Given the description of an element on the screen output the (x, y) to click on. 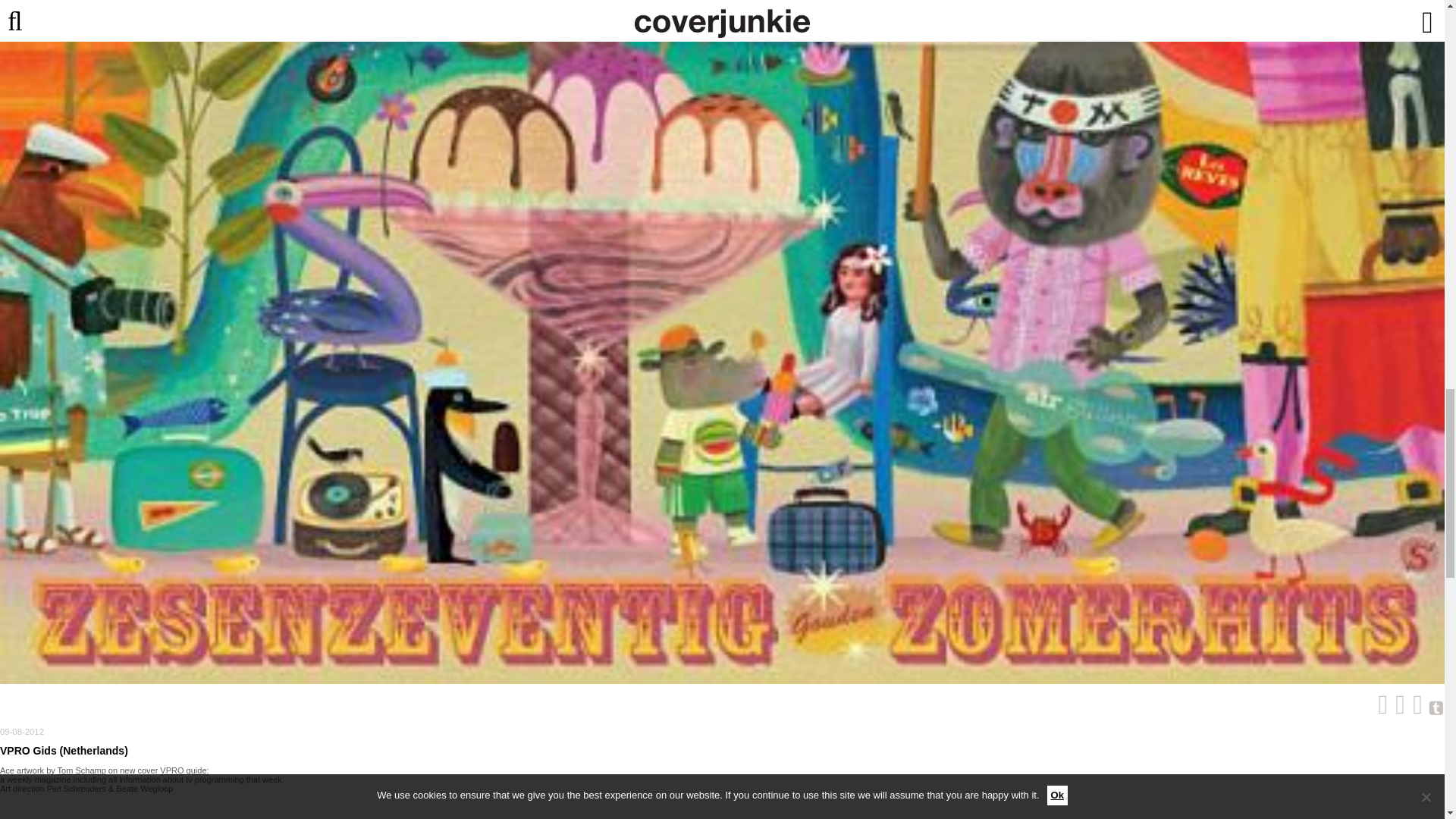
Share on Facebook (1413, 708)
Share on Twitter (1378, 708)
Share on Pinterest (1396, 708)
